Given the description of an element on the screen output the (x, y) to click on. 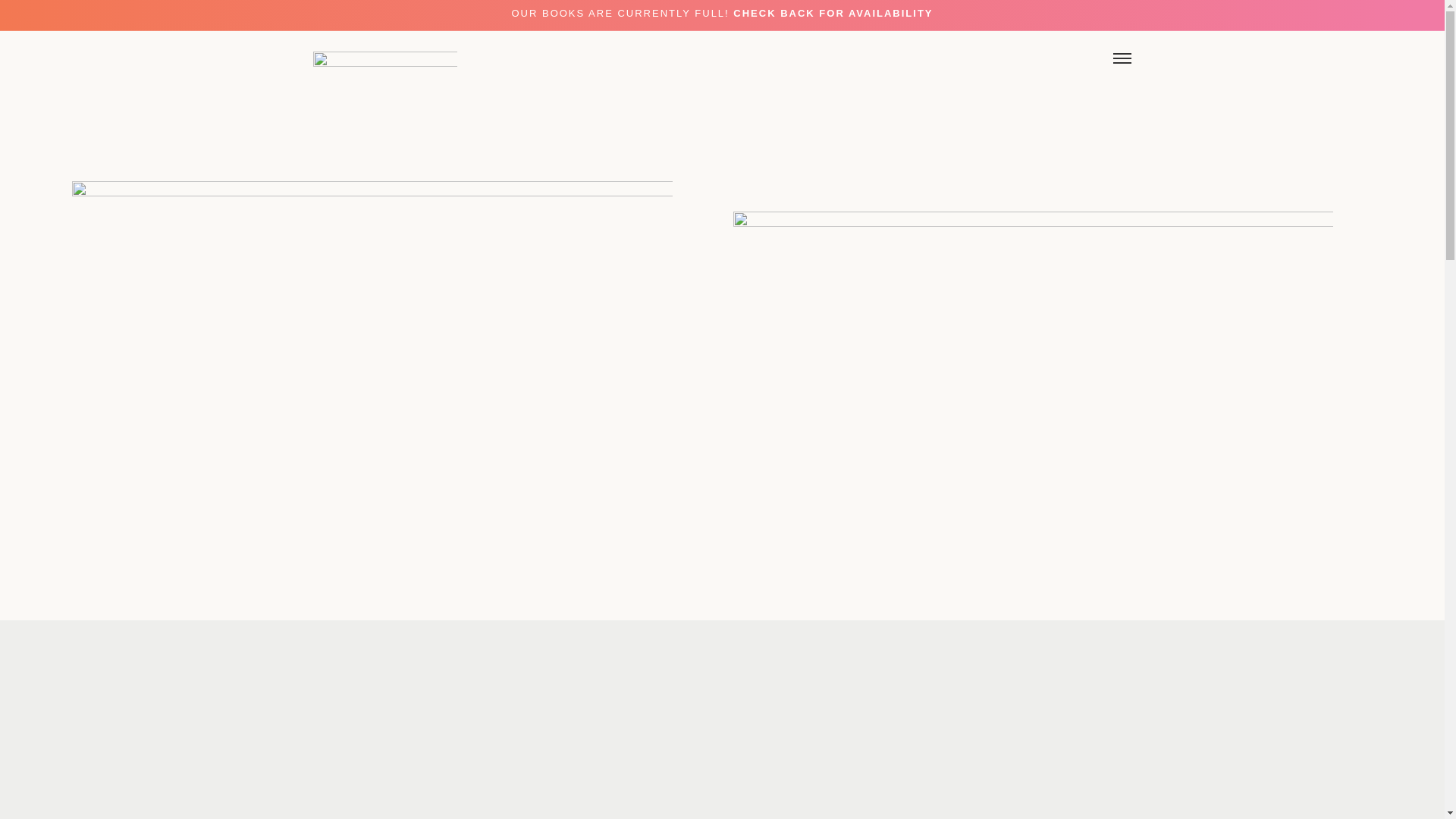
SK_Home_Hero_RIGHT Element type: hover (1033, 488)
Studio_Kimber_Logo-01 Element type: hover (384, 75)
SK_Home_Hero_LEFT Element type: hover (372, 458)
